Given the description of an element on the screen output the (x, y) to click on. 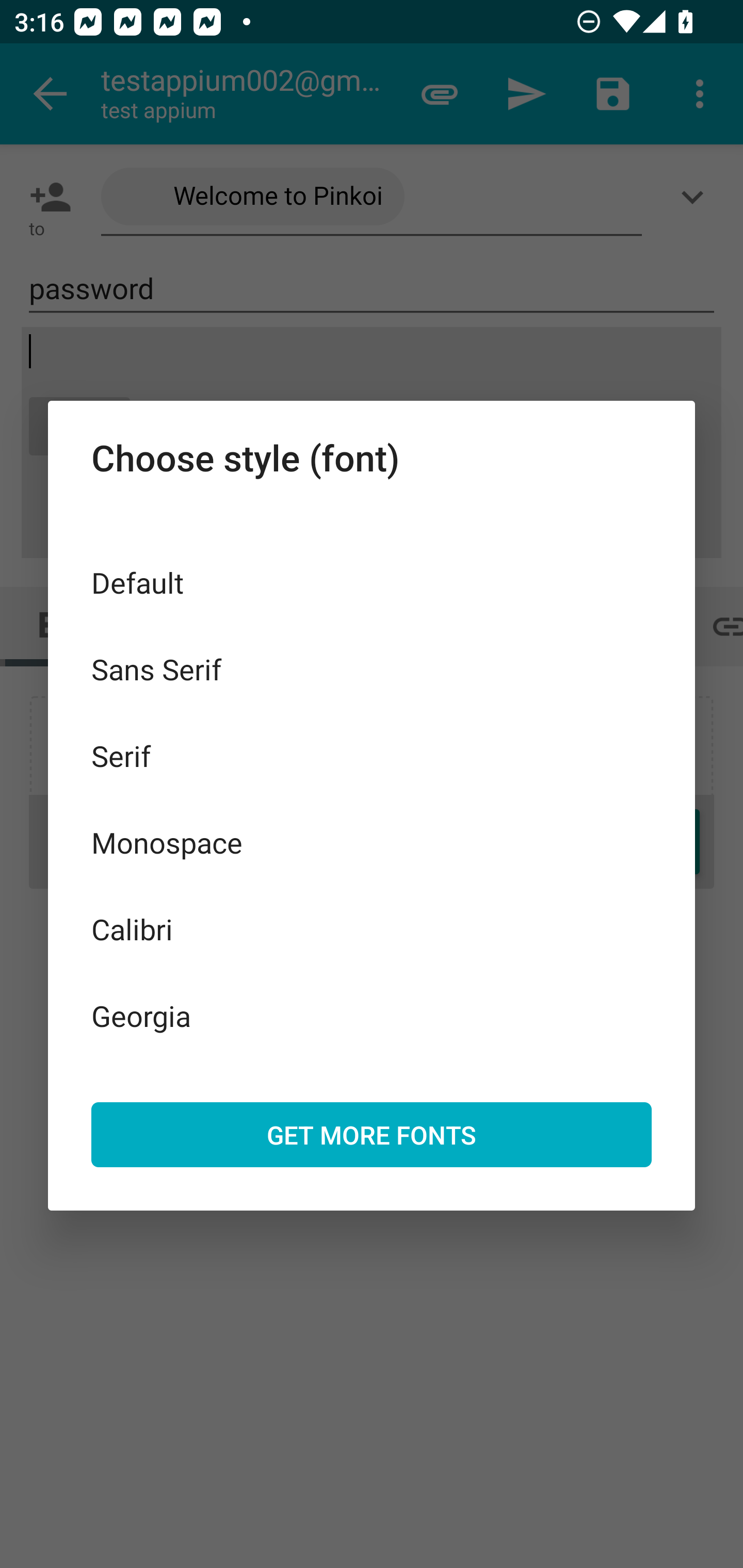
Default (371, 582)
Sans Serif (371, 668)
Serif (371, 755)
Monospace (371, 842)
Calibri (371, 928)
Georgia (371, 1015)
GET MORE FONTS (371, 1134)
